Given the description of an element on the screen output the (x, y) to click on. 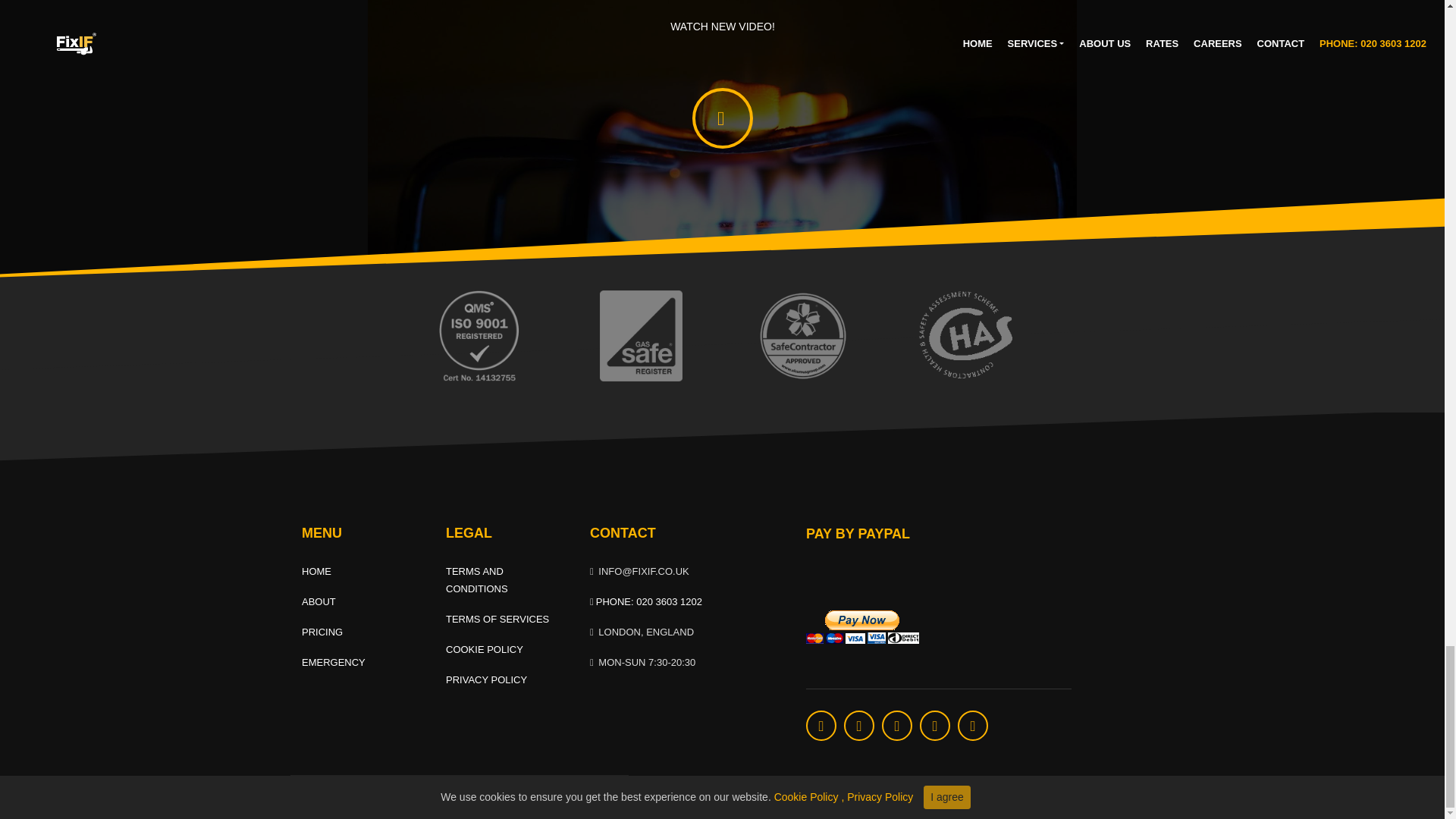
ABOUT (318, 601)
EMERGENCY (333, 662)
PRICING (321, 632)
home (316, 571)
HOME (316, 571)
Youtube video toggler (721, 117)
TERMS OF SERVICES (496, 618)
COOKIE POLICY (483, 649)
PRIVACY POLICY (486, 679)
TERMS AND CONDITIONS (476, 579)
